Given the description of an element on the screen output the (x, y) to click on. 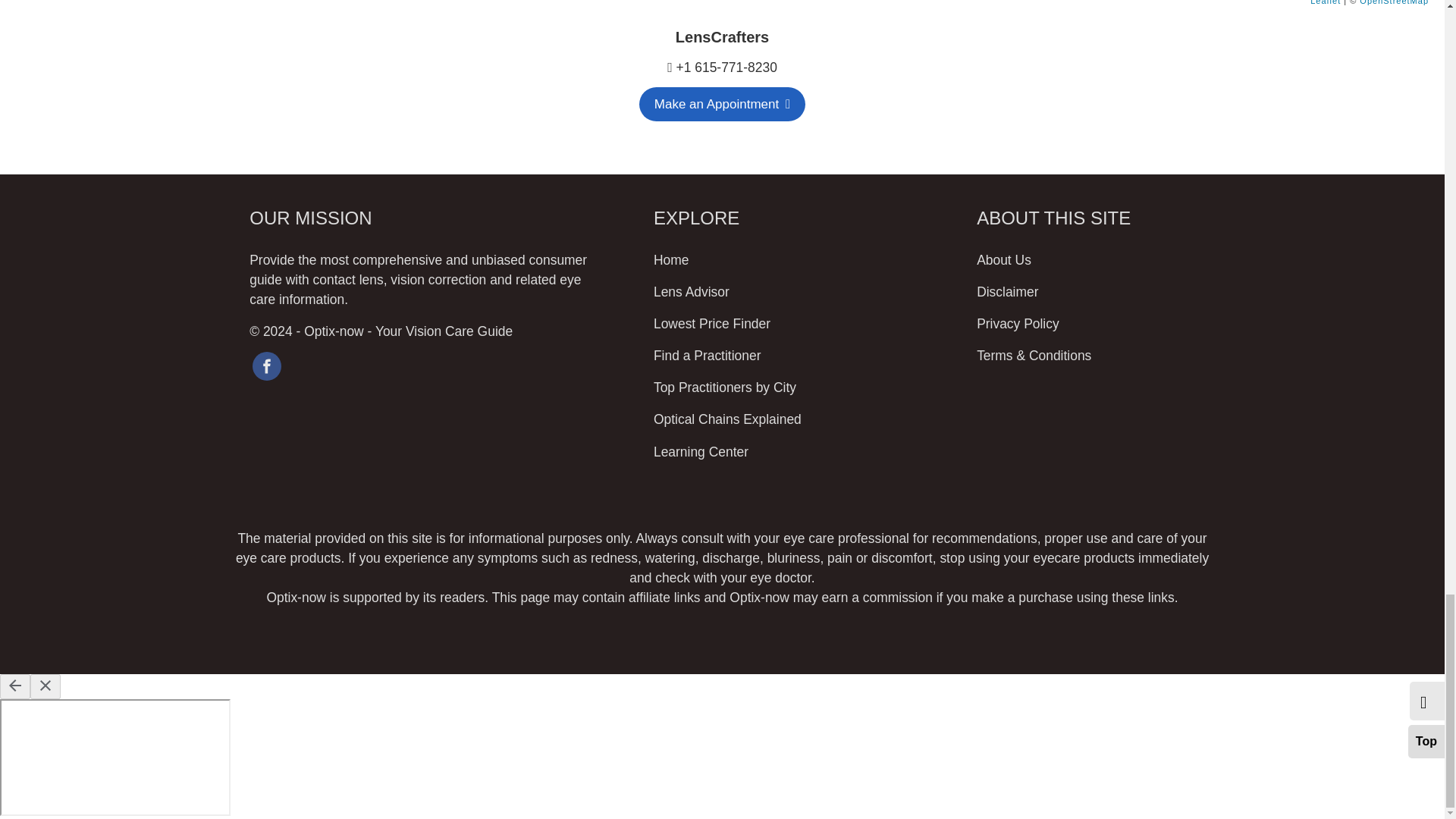
LensCrafters Appointment (722, 104)
A JS library for interactive maps (1325, 2)
Optix-now - Your Independent Vision Care Guide (408, 331)
